Given the description of an element on the screen output the (x, y) to click on. 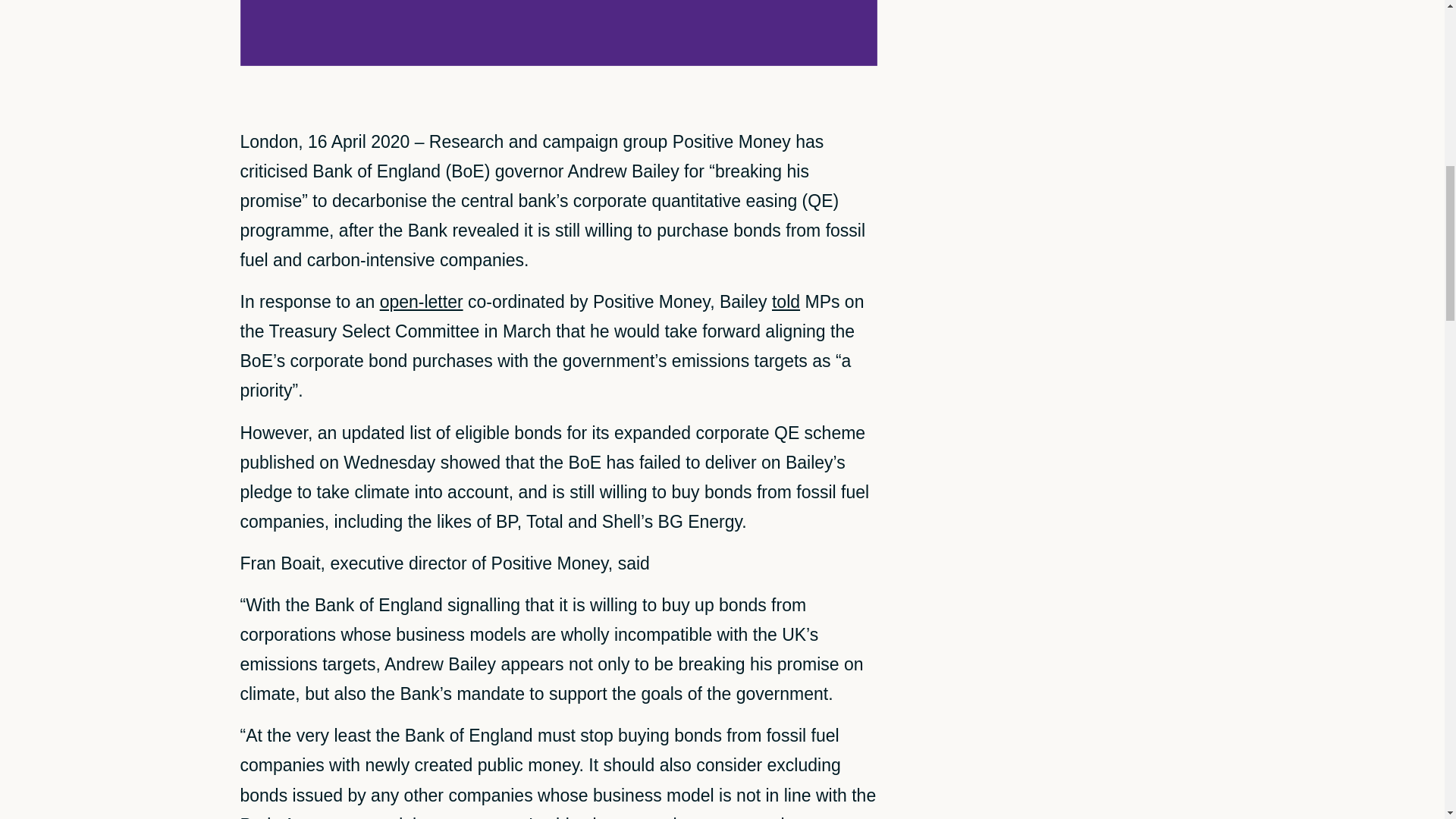
told (785, 301)
open-letter (421, 301)
